Given the description of an element on the screen output the (x, y) to click on. 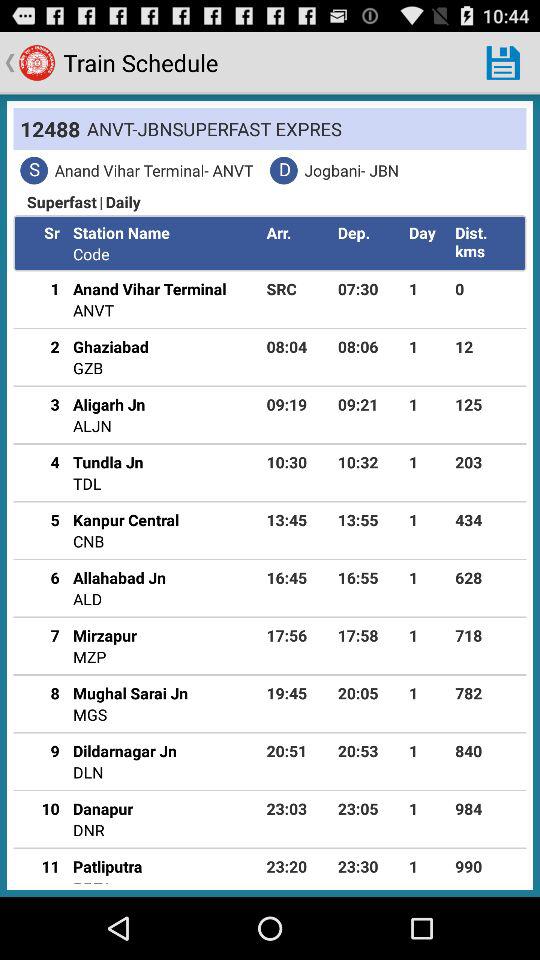
turn on the item below 1 app (43, 346)
